Given the description of an element on the screen output the (x, y) to click on. 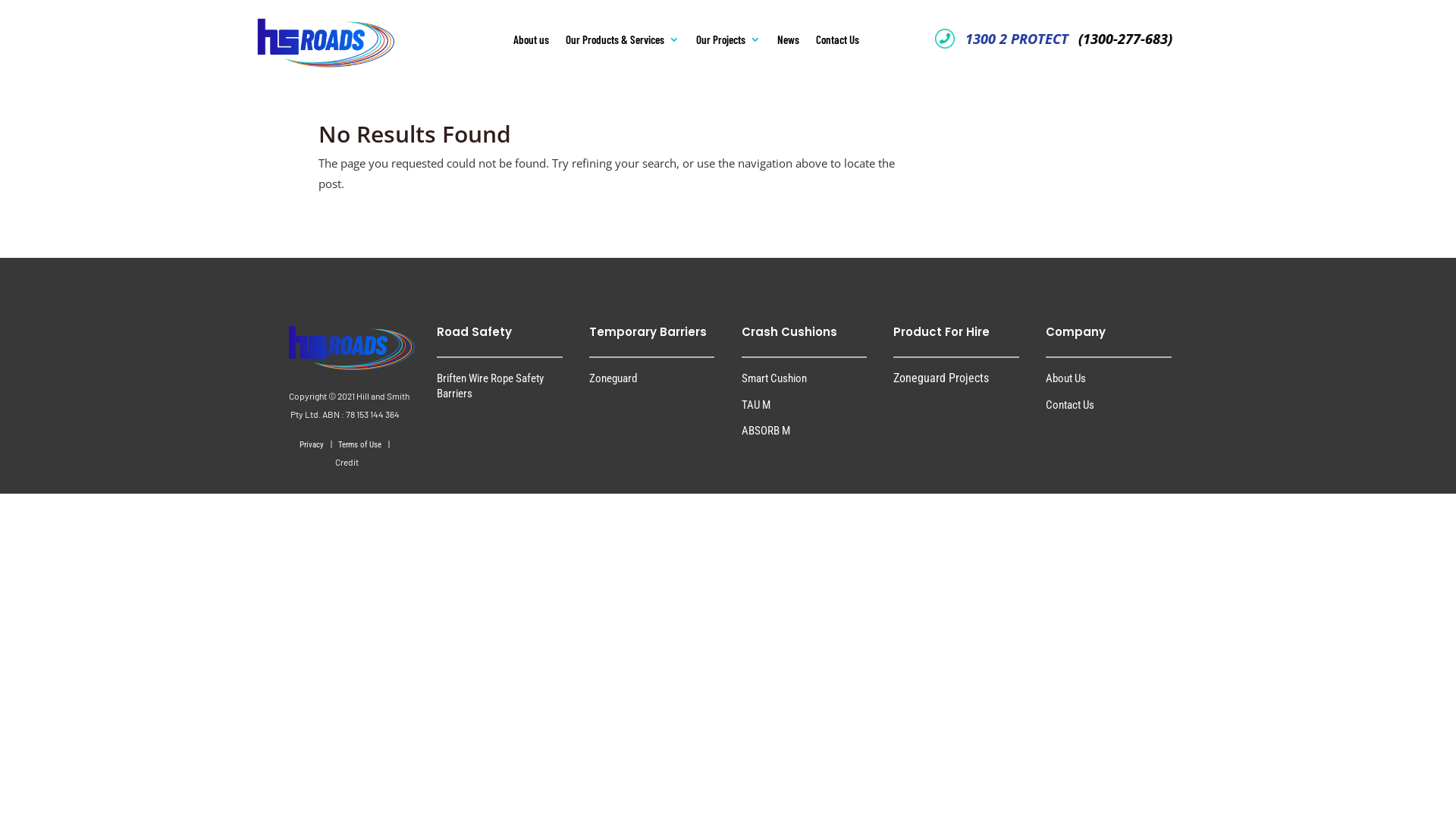
Terms of Use Element type: text (360, 444)
1300 2 PROTECT Element type: text (1015, 39)
Contact Us Element type: text (837, 42)
(1300-277-683) Element type: text (1122, 39)
Privacy Element type: text (312, 444)
Contact Us Element type: text (1069, 404)
Zoneguard Element type: text (613, 378)
TAU M Element type: text (755, 404)
Smart Cushion Element type: text (773, 378)
Zoneguard Projects Element type: text (940, 377)
About Us Element type: text (1065, 378)
logo Element type: hover (299, 33)
ABSORB M Element type: text (765, 430)
News Element type: text (788, 42)
Our Projects Element type: text (728, 42)
Briften Wire Rope Safety Barriers Element type: text (489, 385)
Our Products & Services Element type: text (622, 42)
About us Element type: text (531, 42)
Credit Element type: text (346, 462)
